Given the description of an element on the screen output the (x, y) to click on. 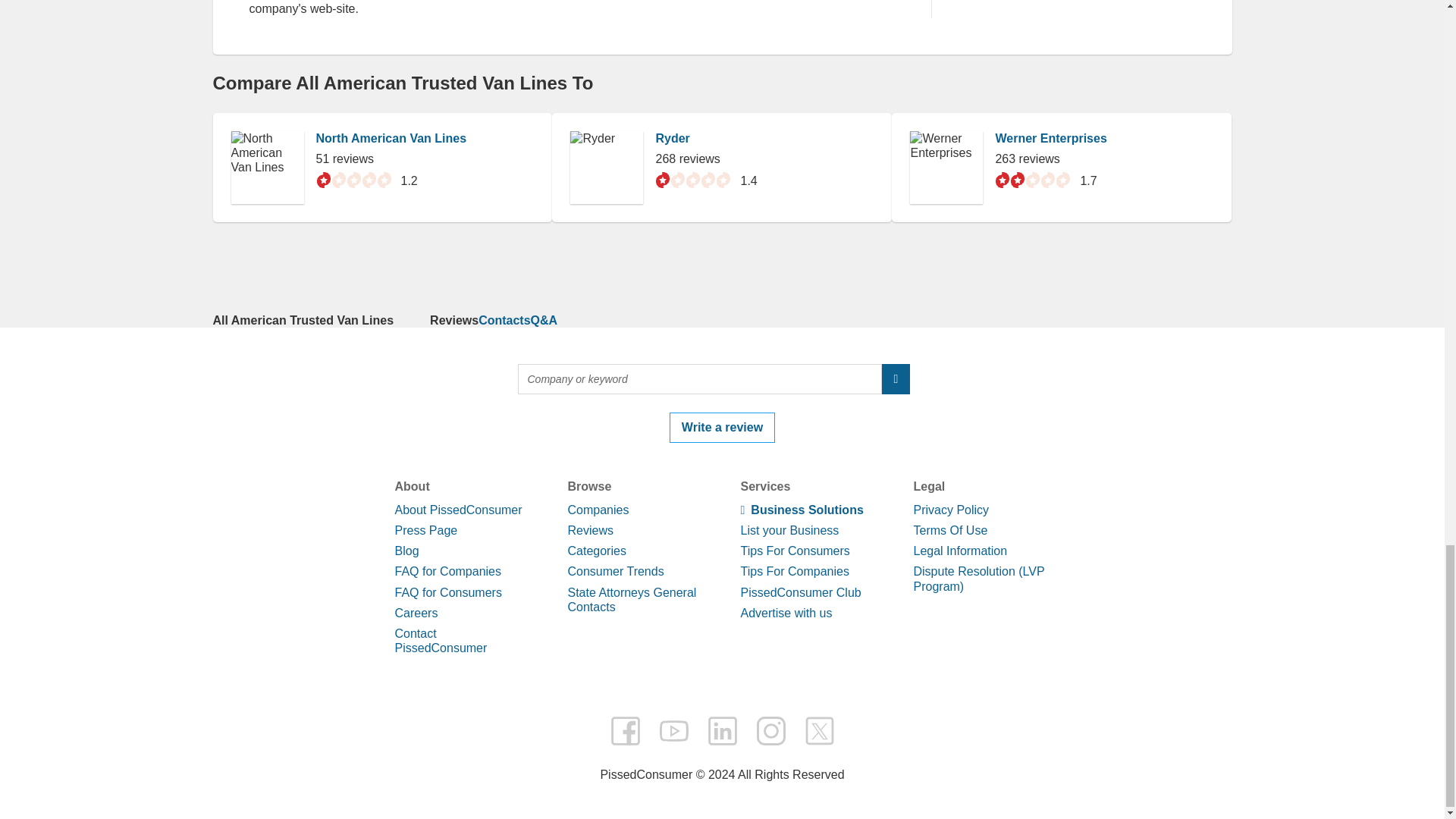
PissedConsumer Club (799, 592)
Blog (406, 550)
Write a review (721, 427)
Privacy Policy (950, 509)
Contact PissedConsumer (440, 640)
youtube (673, 730)
facebook (625, 730)
North American Van Lines (390, 137)
Careers (416, 612)
FAQ for Consumers (447, 592)
